Given the description of an element on the screen output the (x, y) to click on. 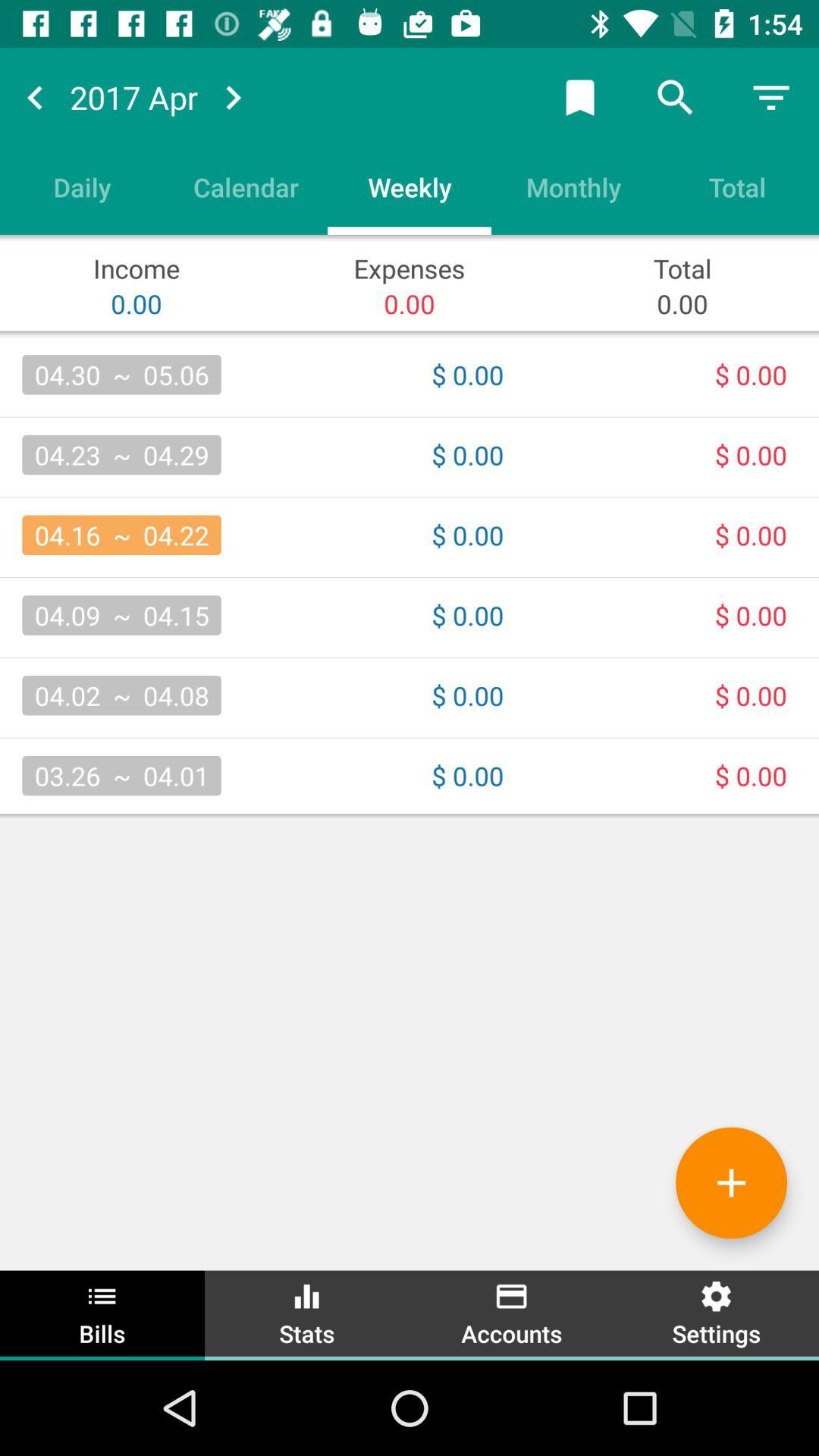
search button (675, 97)
